Given the description of an element on the screen output the (x, y) to click on. 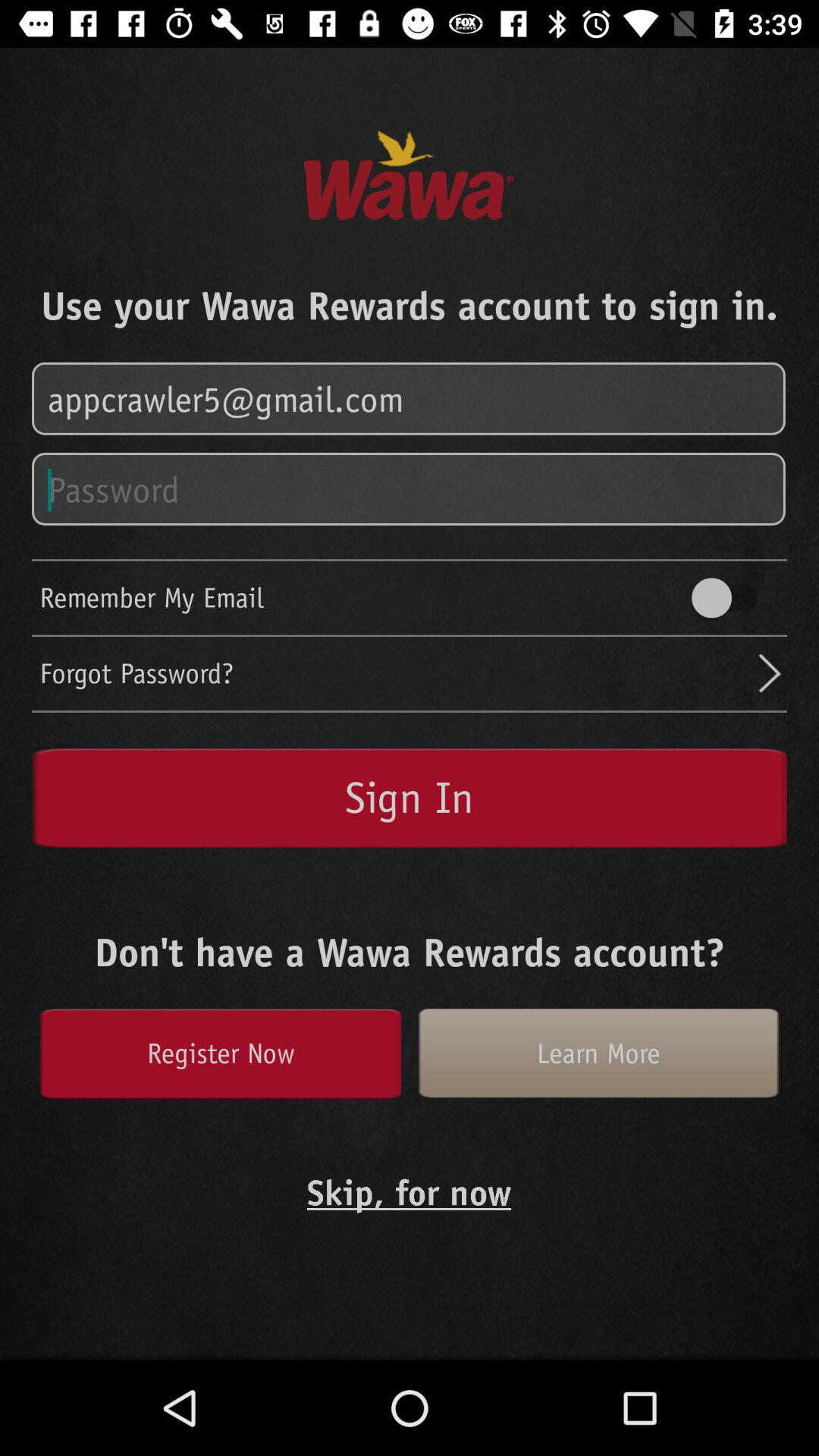
choose the icon above skip, for now icon (220, 1053)
